Given the description of an element on the screen output the (x, y) to click on. 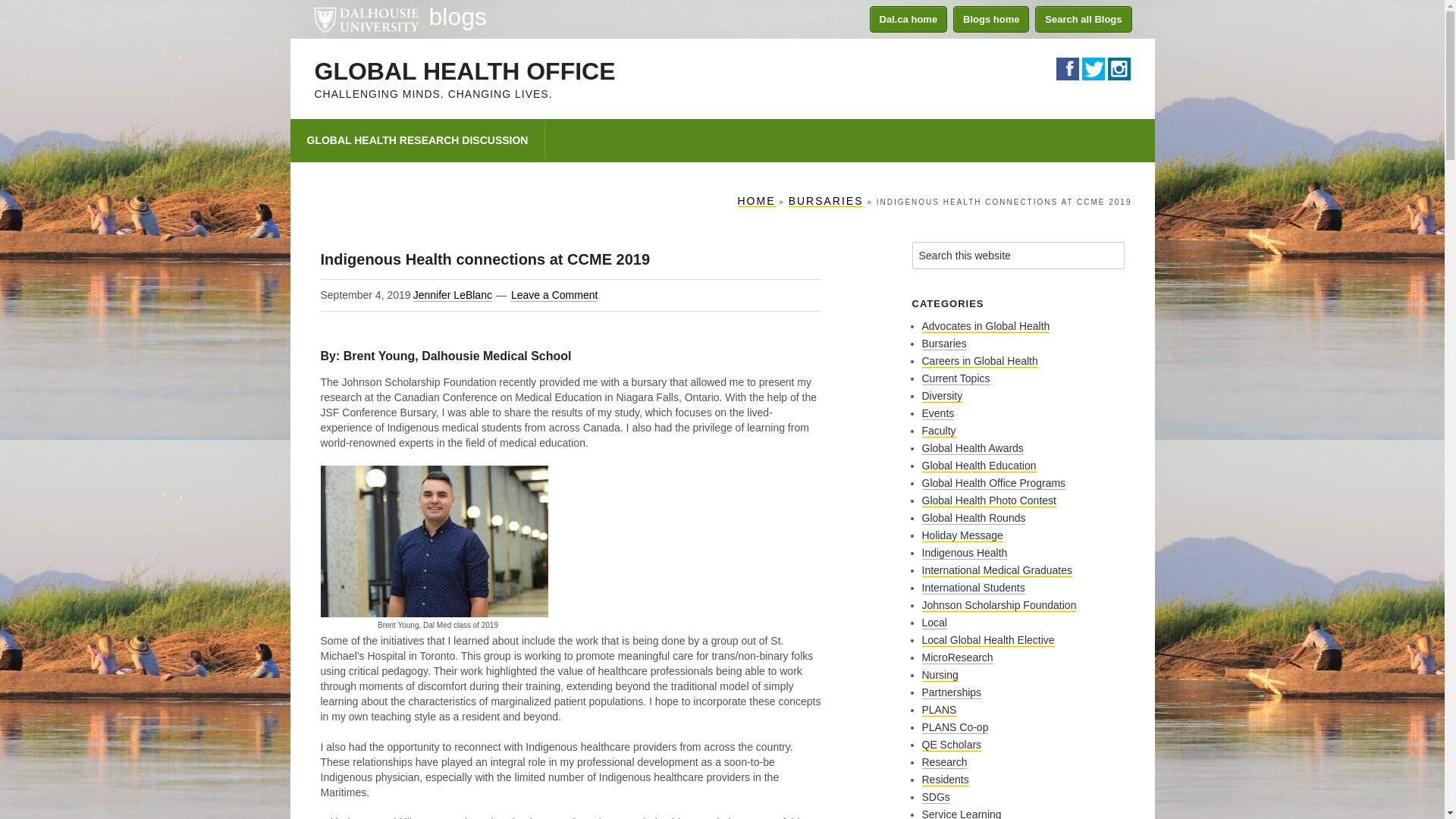
Search all Blogs (1083, 18)
BURSARIES (826, 202)
Dal.ca home (908, 18)
L (1092, 68)
Blogs home (991, 18)
GLOBAL HEALTH RESEARCH DISCUSSION (416, 140)
: (1117, 68)
International Students (973, 587)
